Given the description of an element on the screen output the (x, y) to click on. 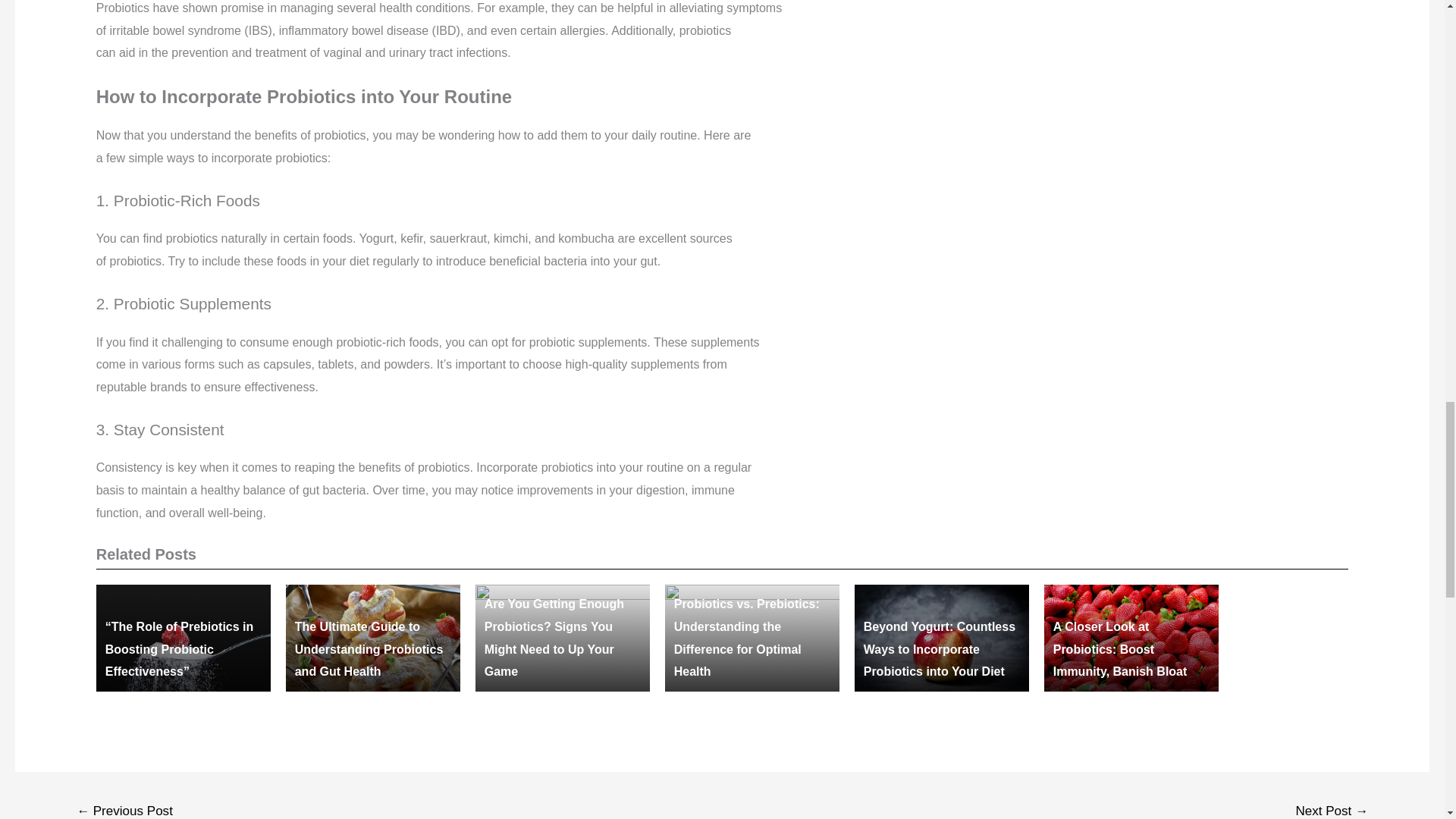
A Closer Look at Probiotics: Boost Immunity, Banish Bloat (1120, 648)
